Given the description of an element on the screen output the (x, y) to click on. 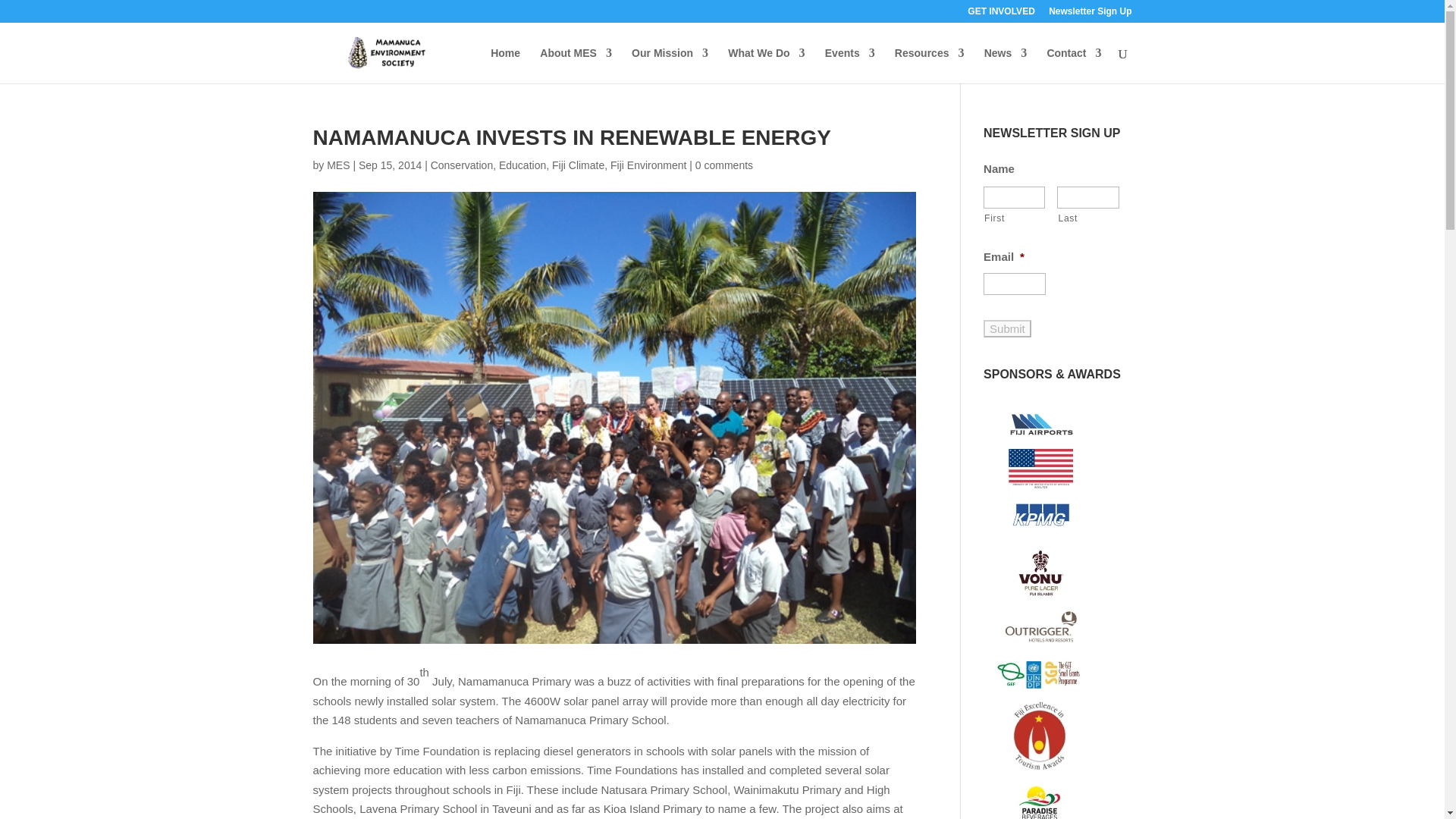
Posts by MES (337, 164)
Environmental Projects (766, 65)
Submit (1007, 328)
News (1005, 65)
What We Do (766, 65)
Mamanuca Marine Guardians (575, 65)
About MES (575, 65)
Our Mission (669, 65)
Resources (929, 65)
Newsletter Sign Up (1089, 14)
GET INVOLVED (1000, 14)
Events (850, 65)
Contact (1073, 65)
